Given the description of an element on the screen output the (x, y) to click on. 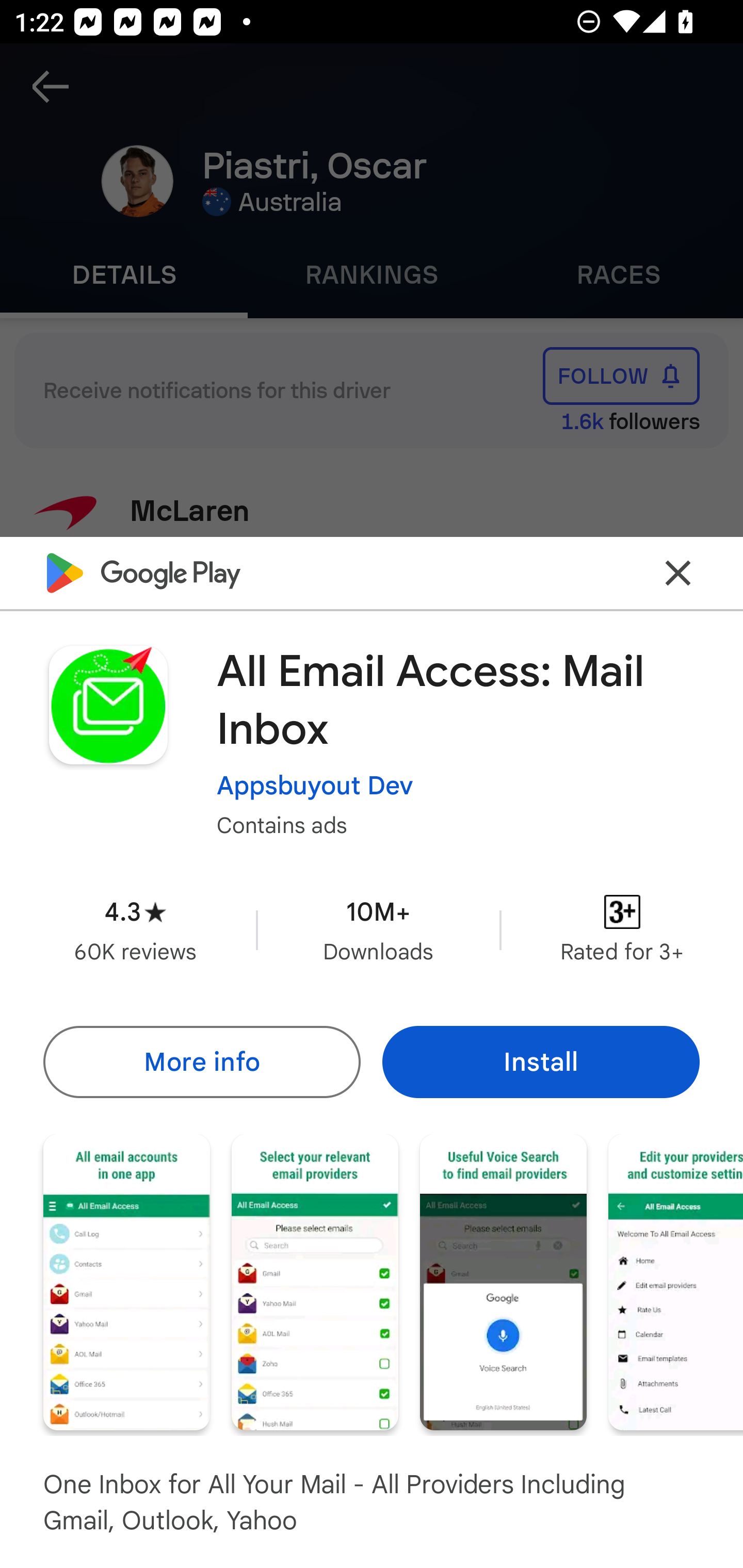
Close (677, 572)
Appsbuyout Dev (314, 784)
More info (201, 1061)
Install (540, 1061)
Screenshot "1" of "7" (126, 1281)
Screenshot "2" of "7" (314, 1281)
Screenshot "3" of "7" (502, 1281)
Screenshot "4" of "7" (675, 1281)
